Given the description of an element on the screen output the (x, y) to click on. 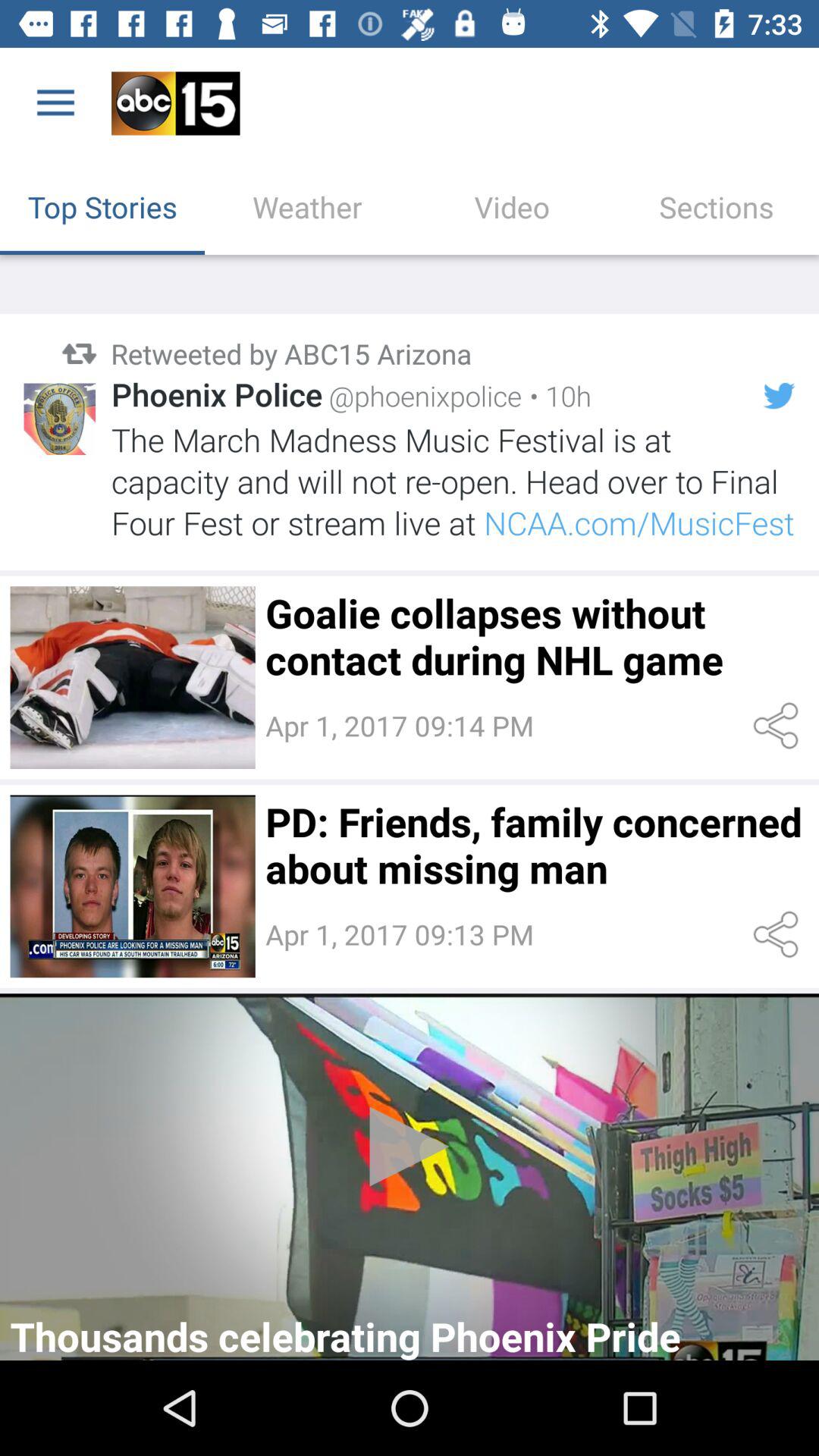
toggle share (778, 725)
